Given the description of an element on the screen output the (x, y) to click on. 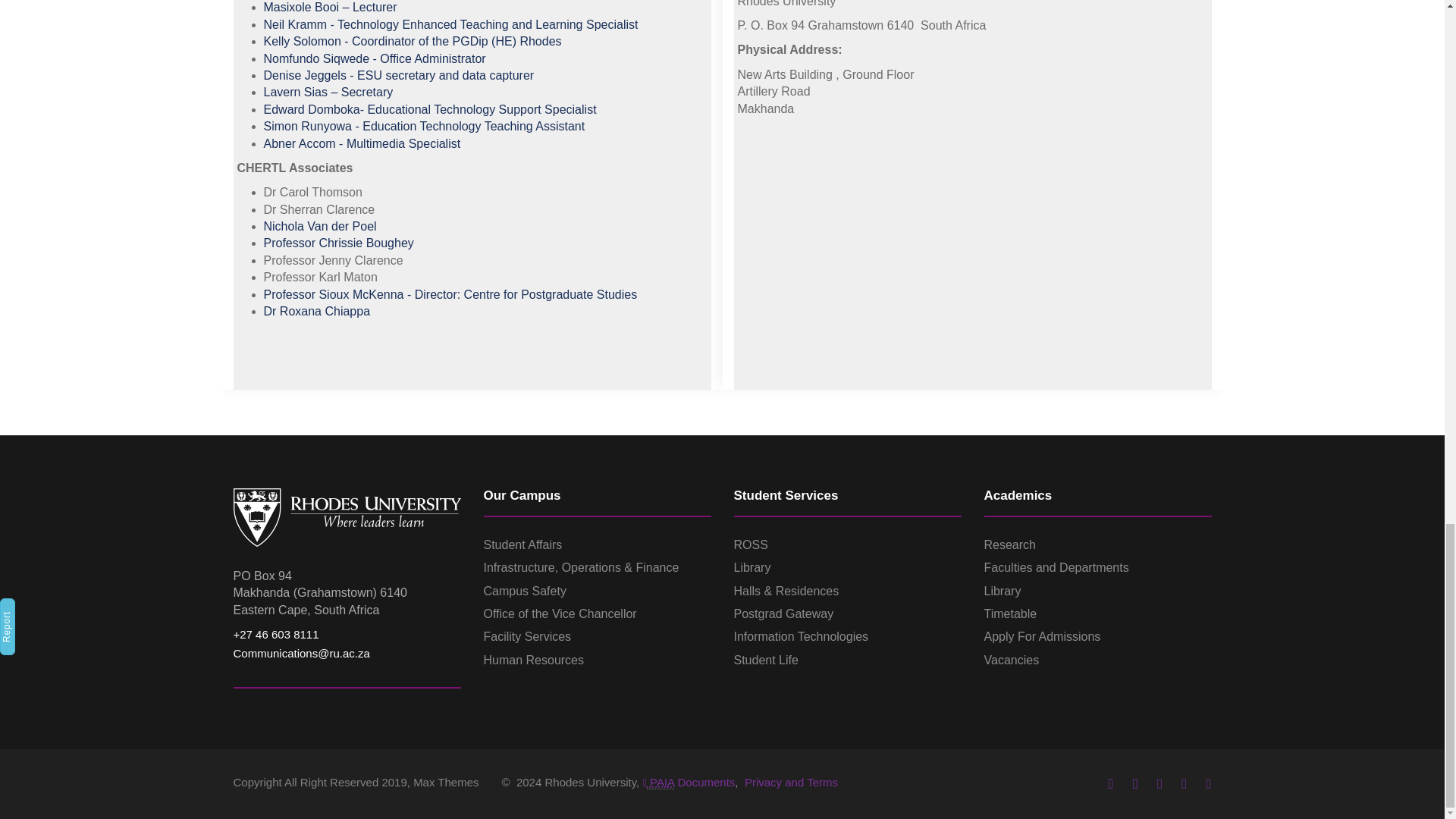
Promotion of Access to Information Act (660, 782)
